Given the description of an element on the screen output the (x, y) to click on. 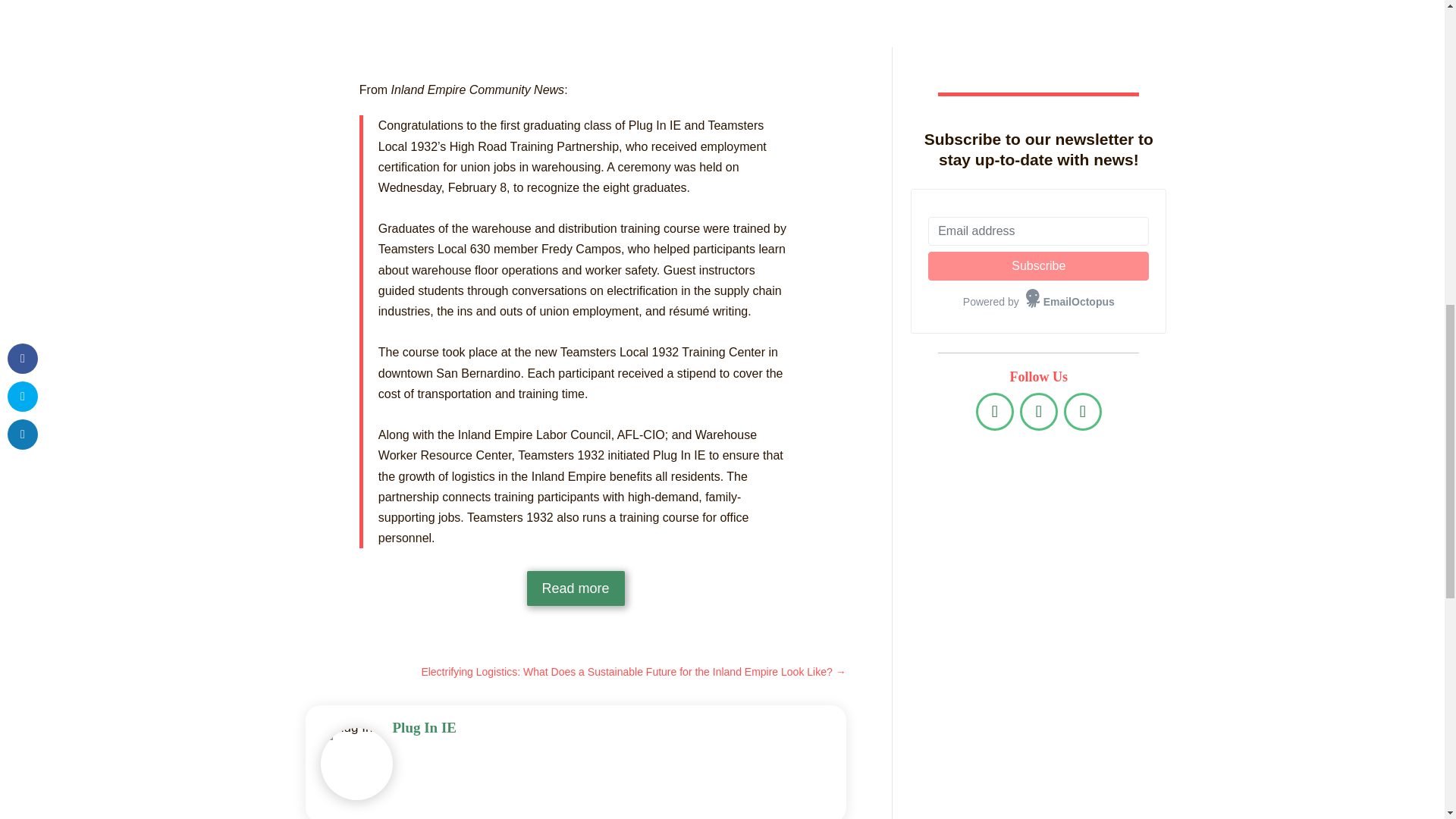
Read more (575, 587)
Follow on Instagram (1083, 411)
Subscribe (1038, 265)
EmailOctopus (1070, 301)
Subscribe (1038, 265)
Follow on Facebook (994, 411)
Follow on Twitter (1039, 411)
